Given the description of an element on the screen output the (x, y) to click on. 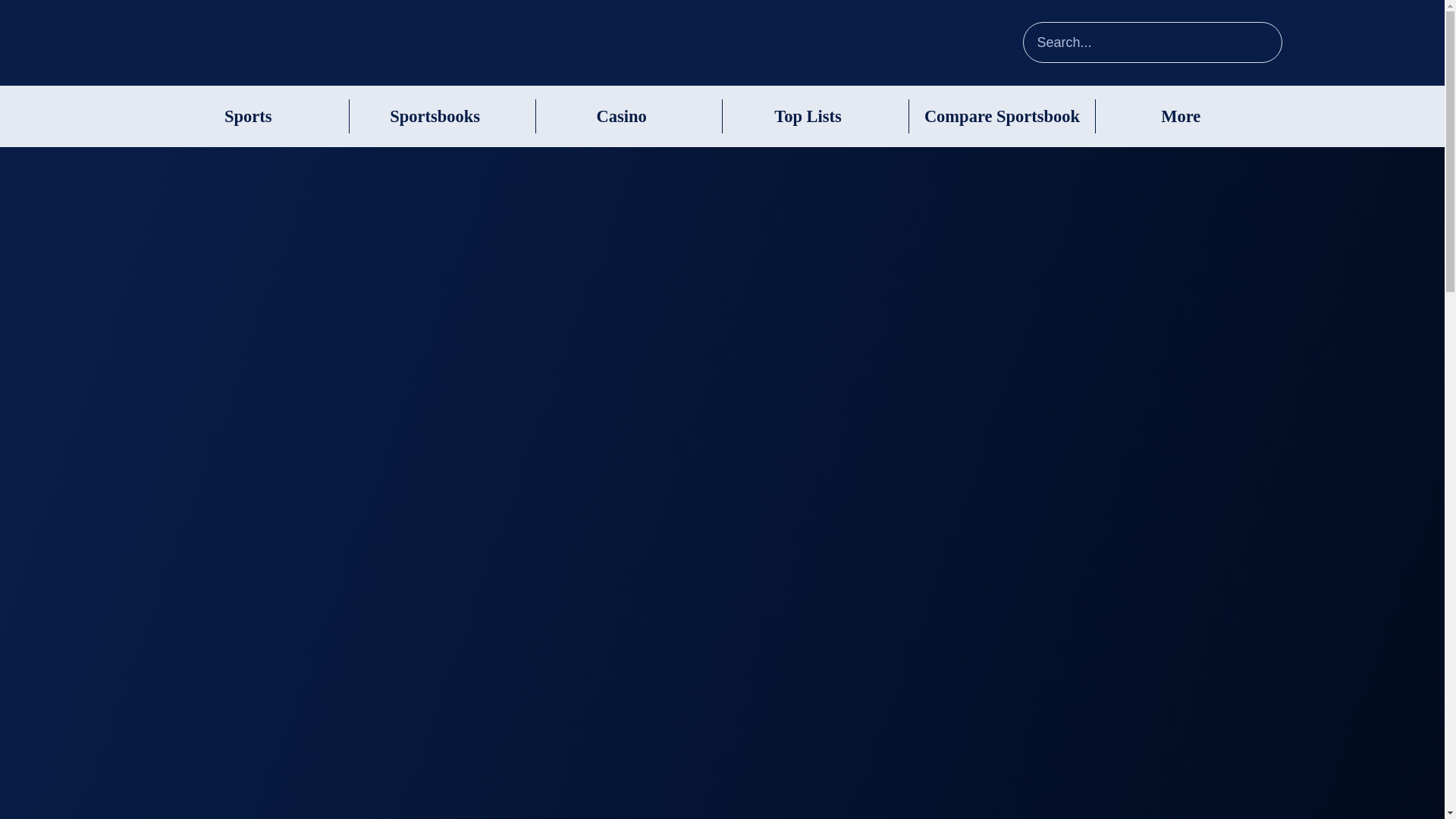
Sports (248, 116)
Casino (620, 116)
Top Lists (807, 116)
Sportsbooks (435, 116)
